Given the description of an element on the screen output the (x, y) to click on. 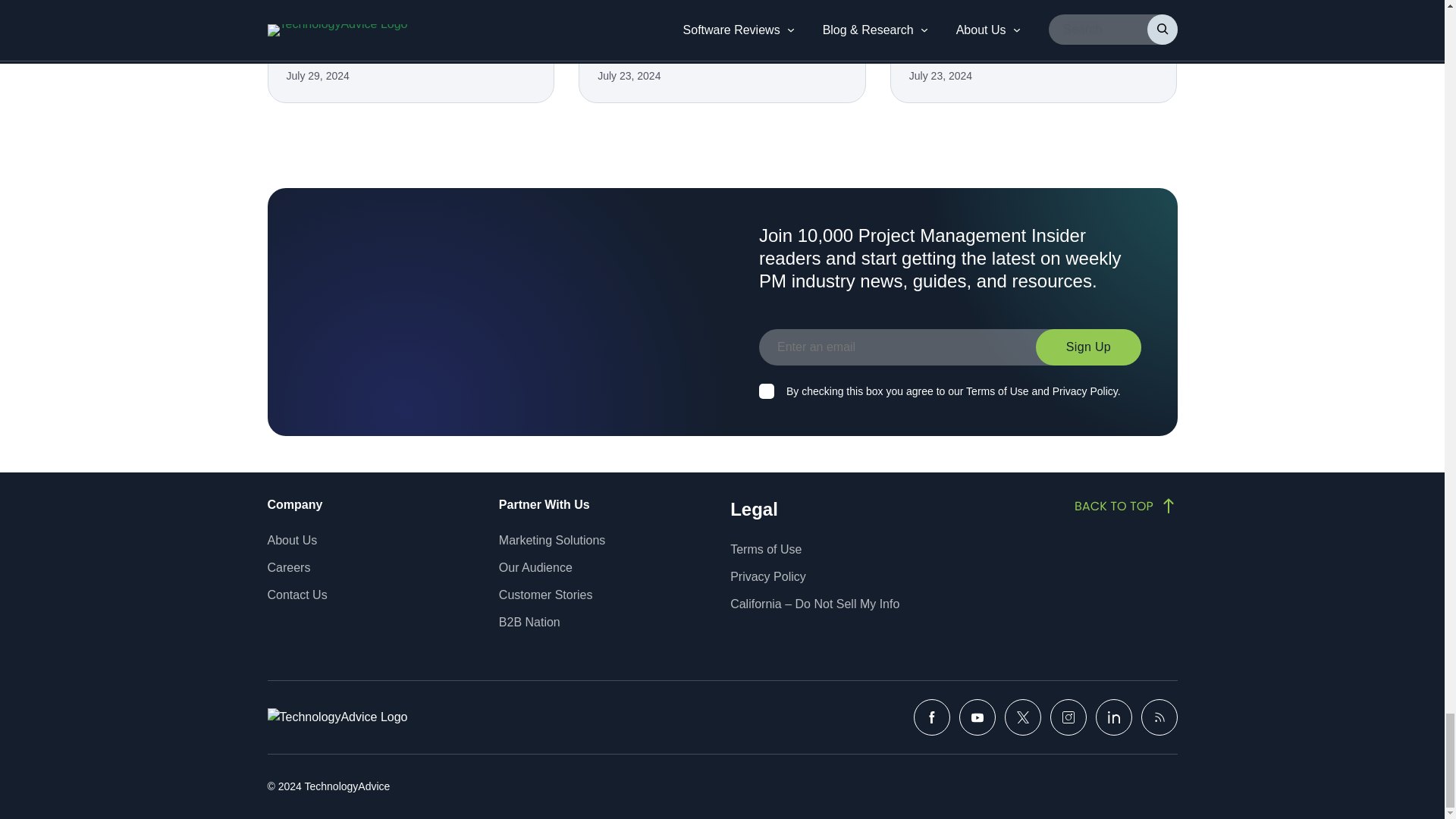
on (765, 391)
